Given the description of an element on the screen output the (x, y) to click on. 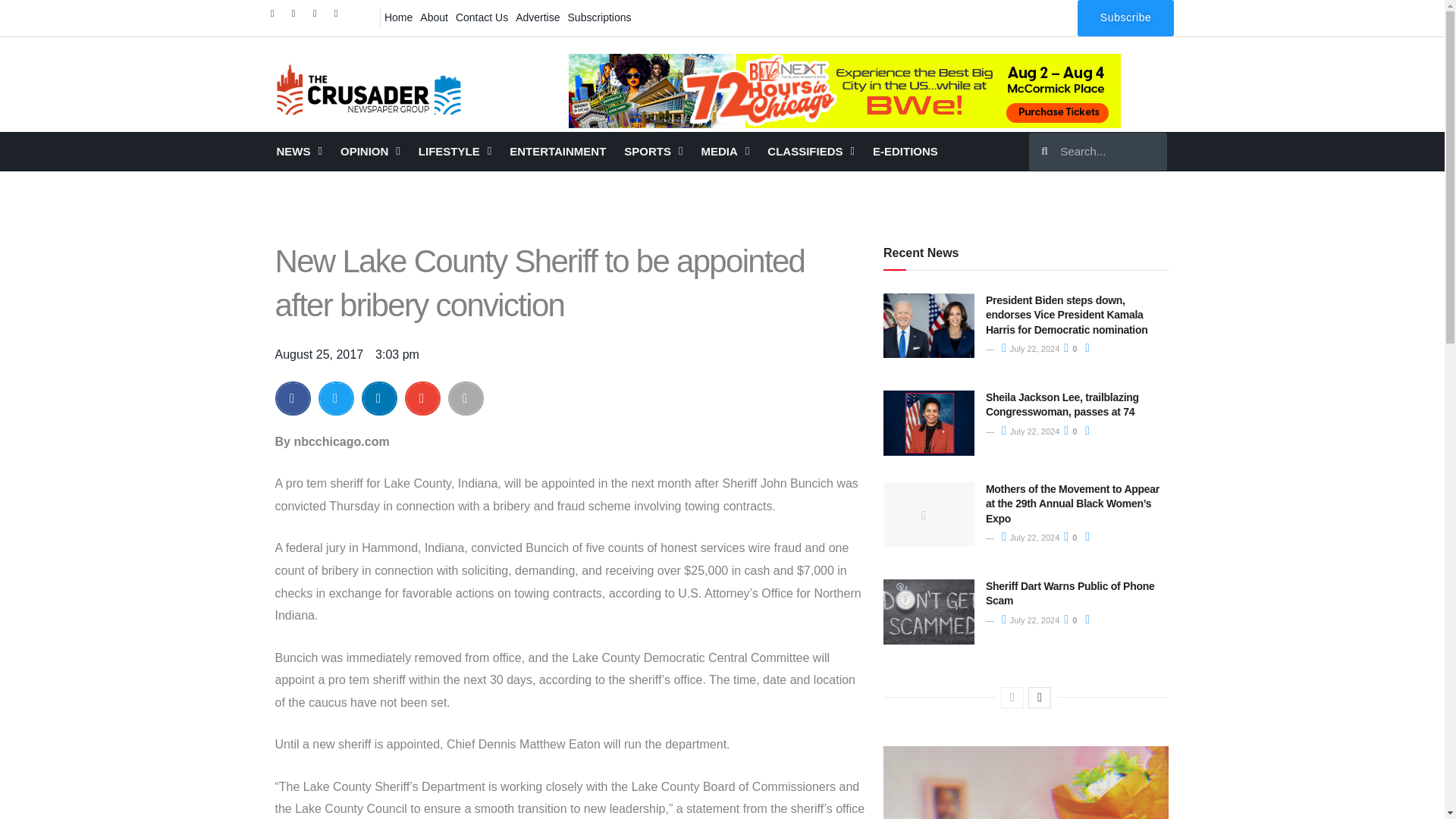
Previous (1012, 697)
50th Anniversary-Lottery-RIGHT VERTICAL BANNER (1026, 782)
About (433, 17)
OPINION (370, 151)
Advertise (537, 17)
Twitter (297, 17)
Youtube (340, 17)
LIFESTYLE (454, 151)
Instagram (318, 17)
Subscriptions (599, 17)
Subscribe (1125, 18)
Facebook-f (276, 17)
Next (1039, 697)
Black Women's Expo-July 2024 (845, 90)
NEWS (298, 151)
